Given the description of an element on the screen output the (x, y) to click on. 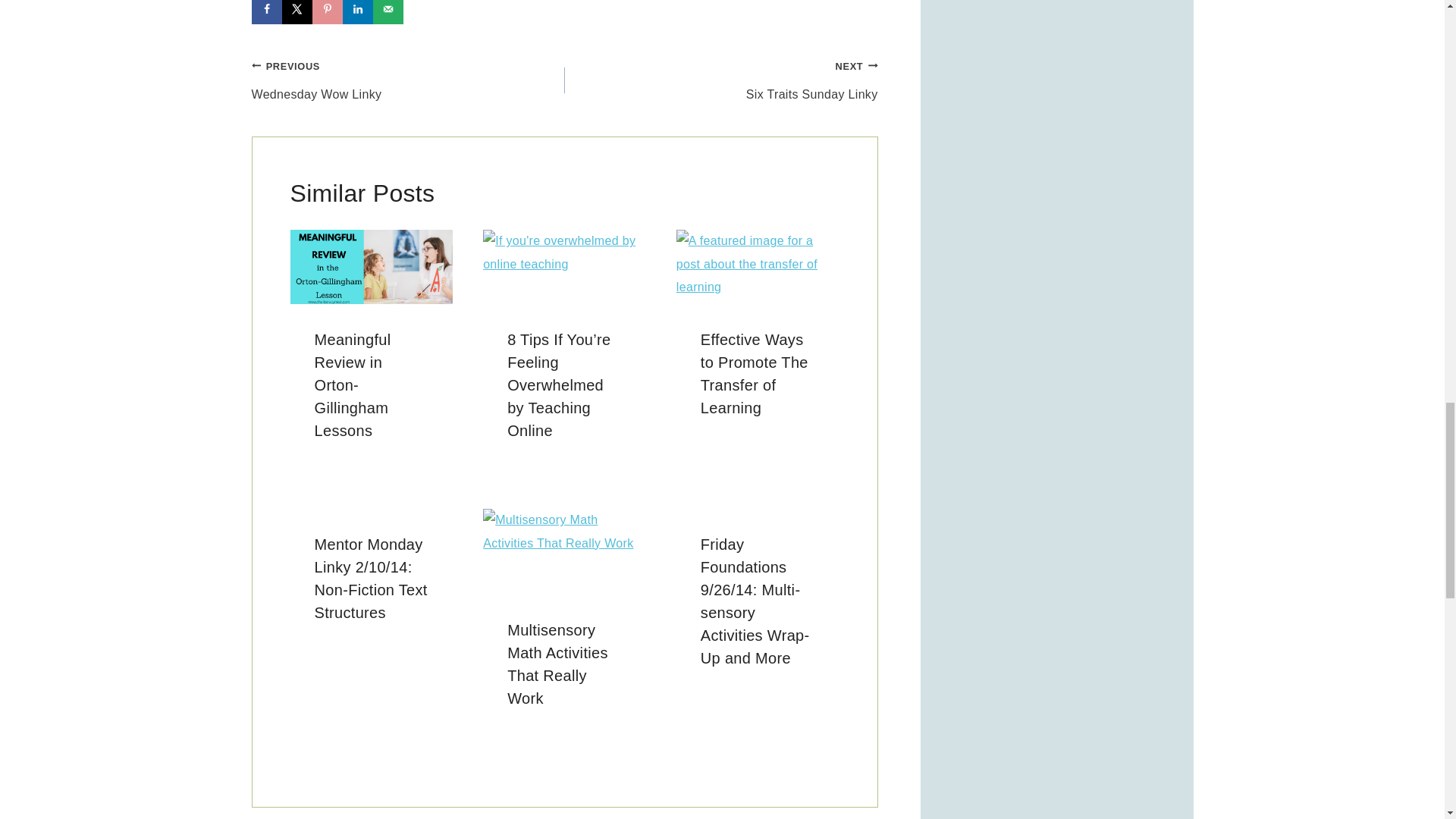
Send over email (387, 12)
Share on Facebook (266, 12)
Share on X (297, 12)
Save to Pinterest (327, 12)
Share on LinkedIn (357, 12)
